Given the description of an element on the screen output the (x, y) to click on. 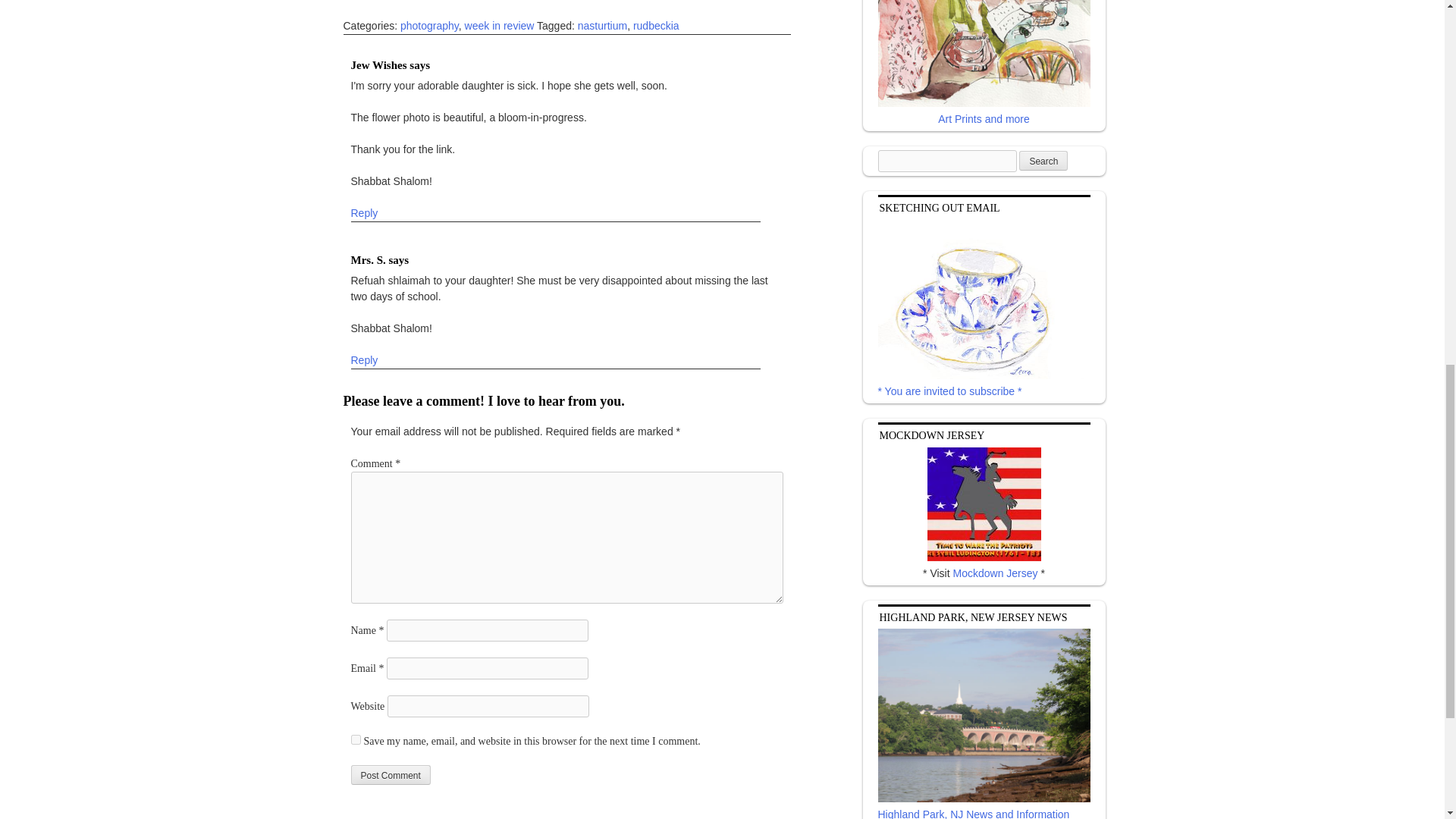
View all posts in photography (429, 25)
yes (354, 739)
Reply (363, 213)
View all posts tagged rudbeckia (656, 25)
nasturtium (602, 25)
week in review (499, 25)
View all posts tagged nasturtium (602, 25)
Reply (363, 359)
Post Comment (389, 774)
Search (1043, 160)
View all posts in week in review (499, 25)
rudbeckia (656, 25)
Post Comment (389, 774)
photography (429, 25)
